Given the description of an element on the screen output the (x, y) to click on. 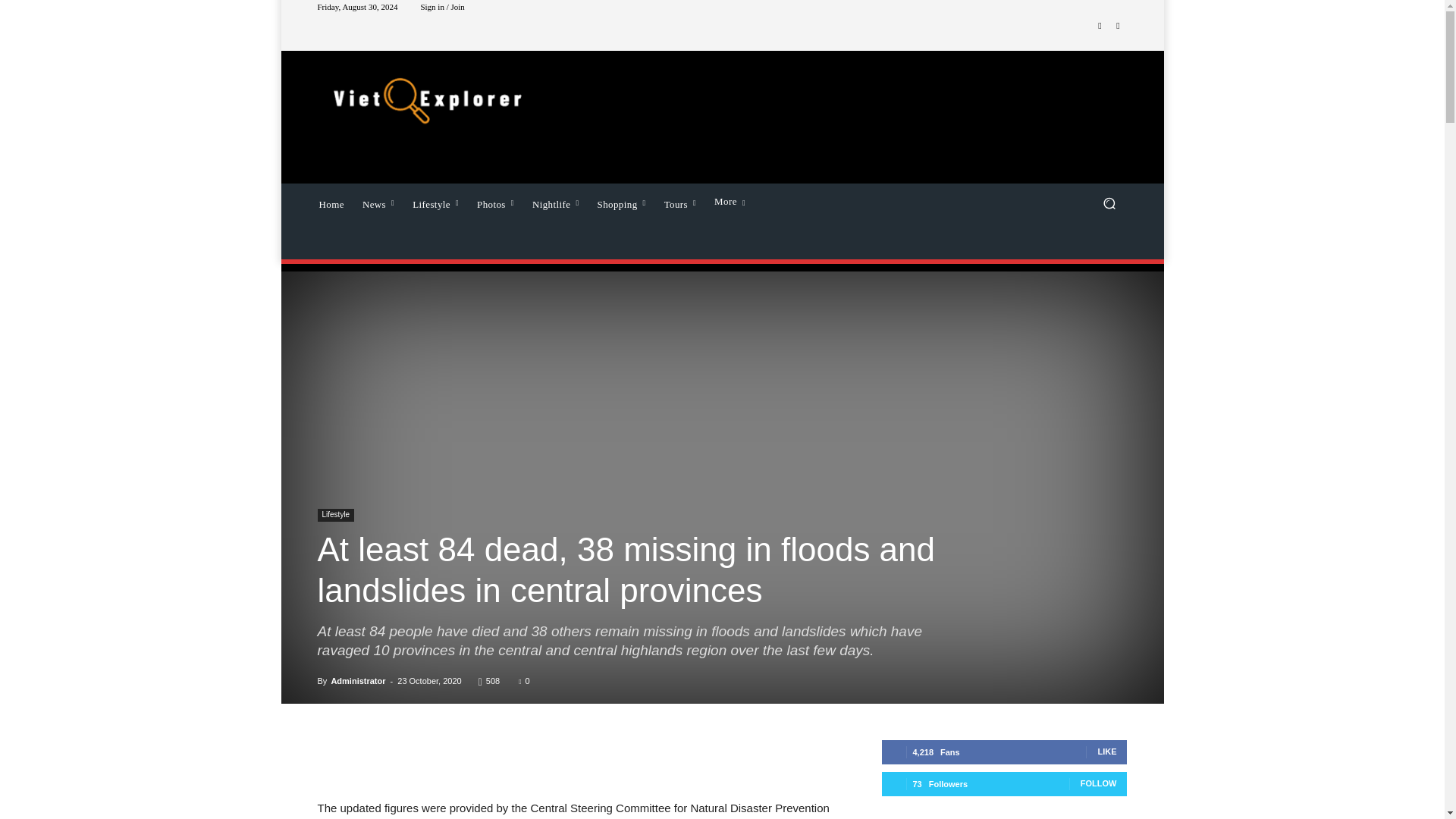
Facebook (1099, 25)
Lifestyle (435, 202)
Home (330, 202)
News (378, 202)
Twitter (1117, 25)
